Given the description of an element on the screen output the (x, y) to click on. 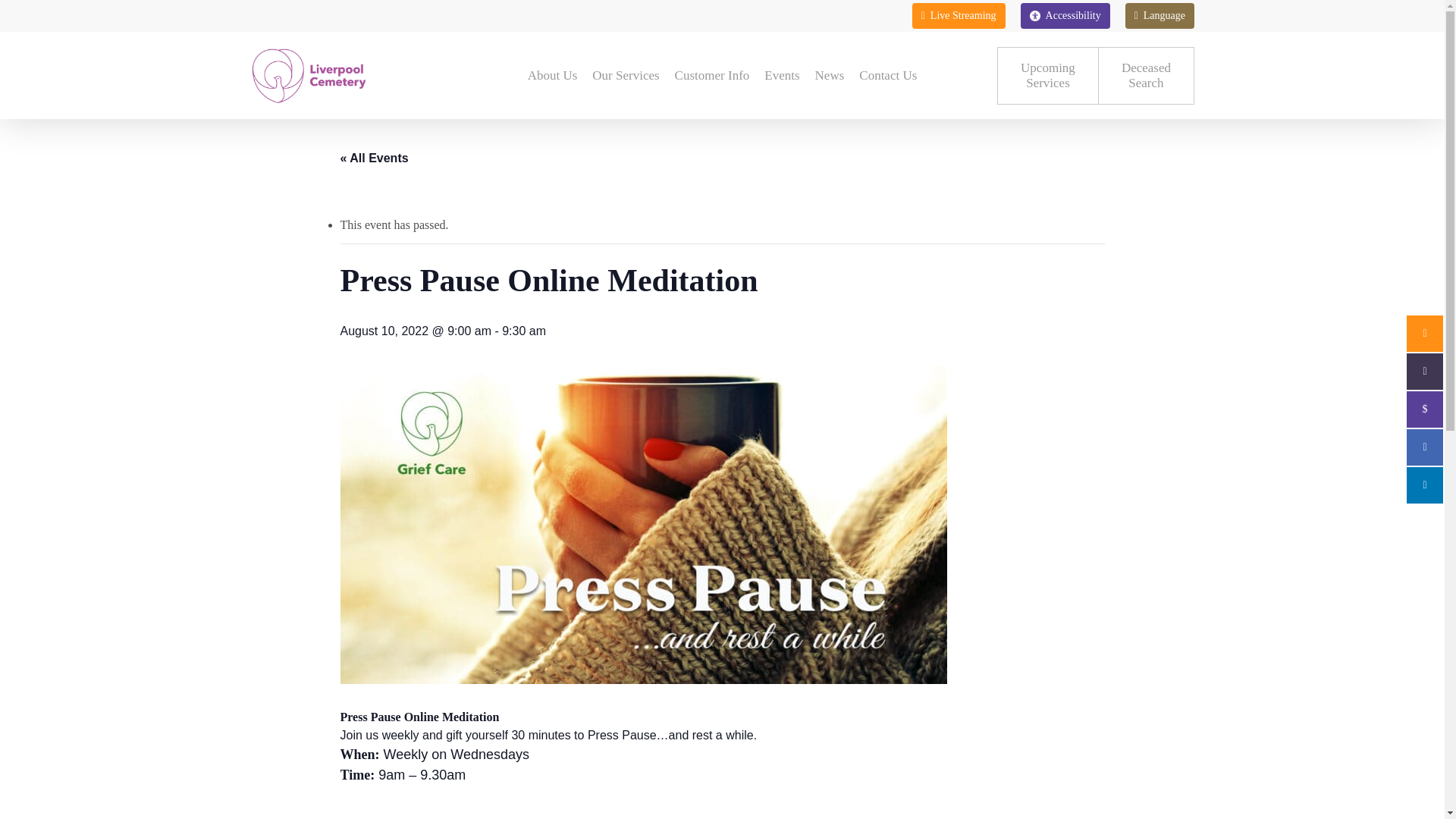
Our Services (625, 75)
Contact Us (887, 75)
Live Streaming (959, 15)
Events (781, 75)
Language (1159, 15)
About Us (552, 75)
Accessibility (1145, 75)
Customer Info (1064, 15)
News (711, 75)
